Given the description of an element on the screen output the (x, y) to click on. 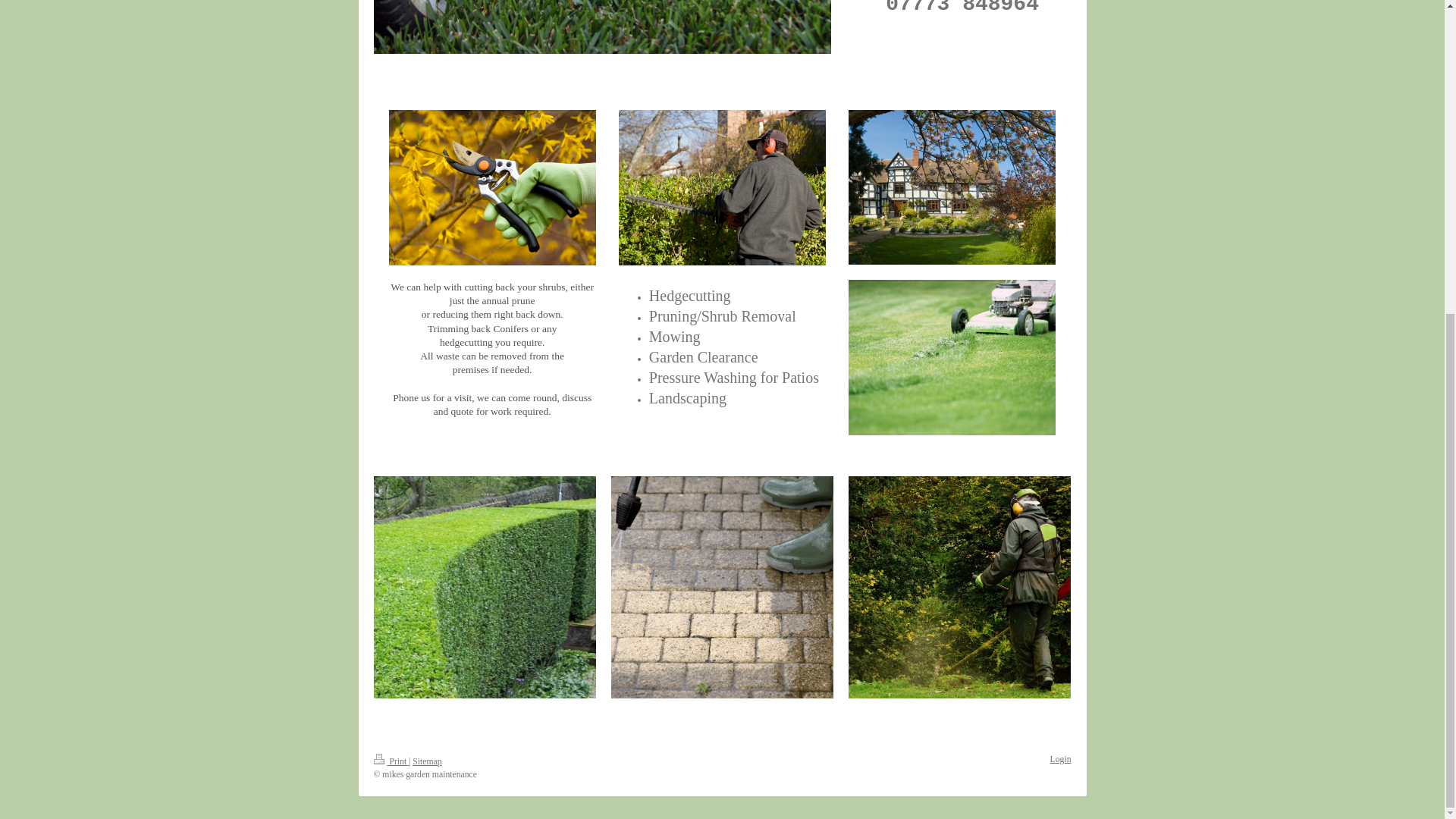
Login (1060, 759)
Print (390, 761)
Sitemap (426, 761)
